Given the description of an element on the screen output the (x, y) to click on. 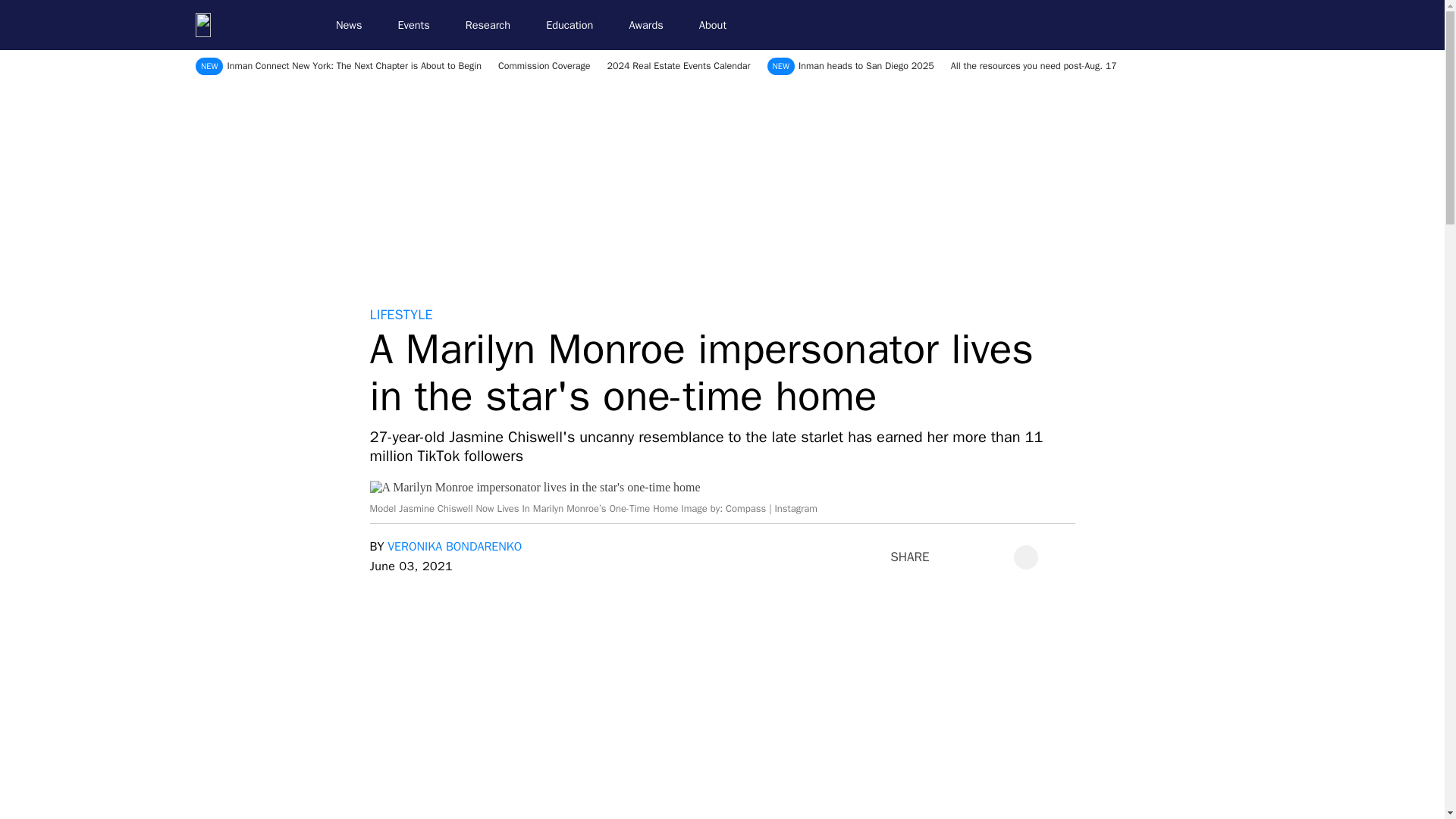
Awards (651, 25)
Education (575, 25)
Research (493, 25)
News (355, 25)
Events (419, 25)
